Given the description of an element on the screen output the (x, y) to click on. 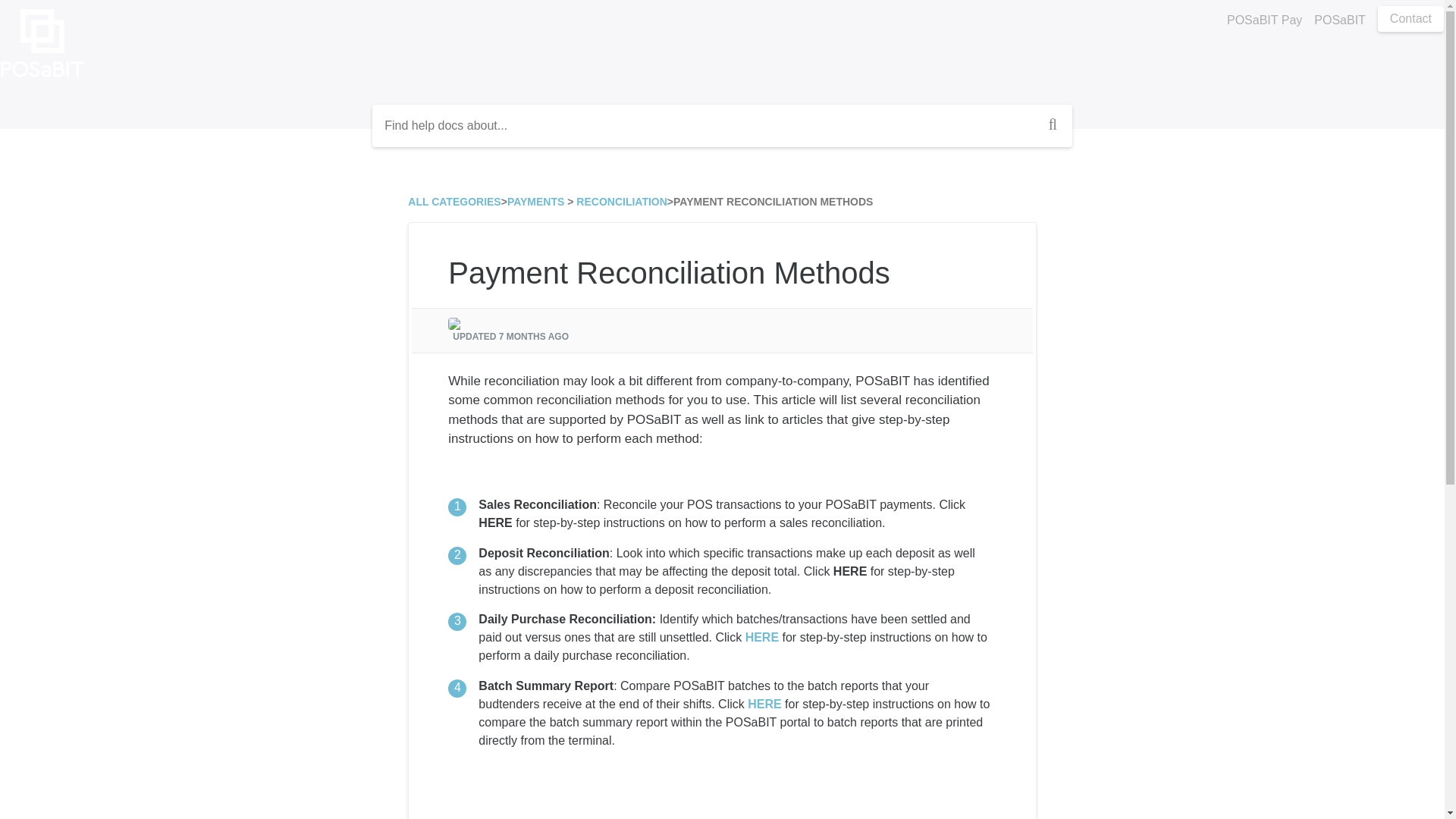
RECONCILIATION (621, 201)
ALL CATEGORIES (453, 201)
POSaBIT Pay (1264, 20)
HERE (764, 703)
PAYMENTS (535, 201)
POSaBIT (1339, 20)
HERE (495, 522)
Contact (1410, 18)
HERE (761, 636)
HERE (849, 571)
